Given the description of an element on the screen output the (x, y) to click on. 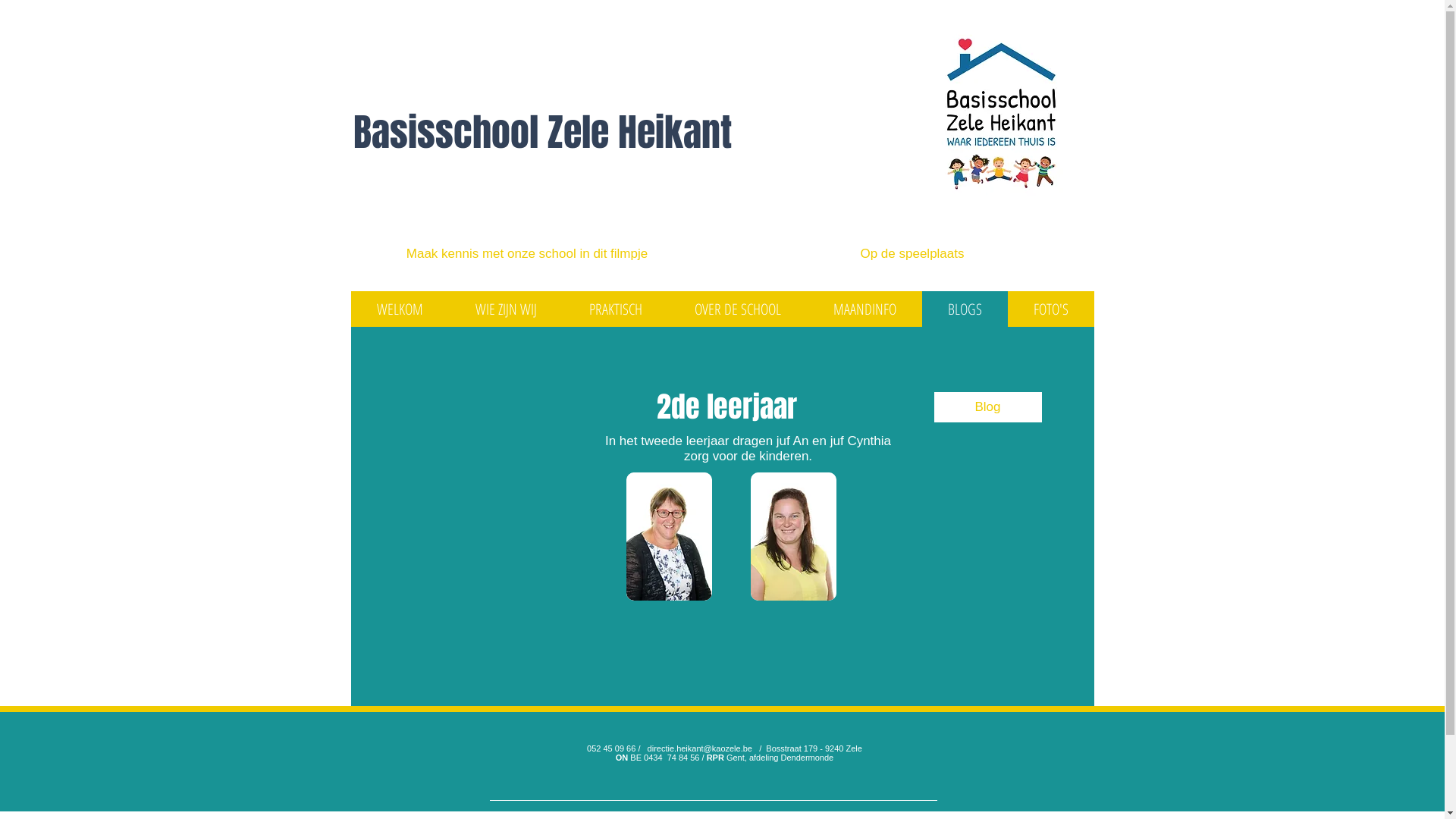
WELKOM Element type: text (399, 308)
Zele Heikant Element type: text (639, 132)
Maak kennis met onze school in dit filmpje Element type: text (527, 253)
MAANDINFO Element type: text (863, 308)
BLOGS Element type: text (964, 308)
WIE ZIJN WIJ Element type: text (505, 308)
FOTO'S Element type: text (1050, 308)
Basisschool Element type: text (450, 132)
OVER DE SCHOOL Element type: text (737, 308)
PRAKTISCH Element type: text (615, 308)
Blog Element type: text (987, 407)
directie.heikant@kaozele.be Element type: text (699, 748)
Op de speelplaats Element type: text (912, 253)
